Given the description of an element on the screen output the (x, y) to click on. 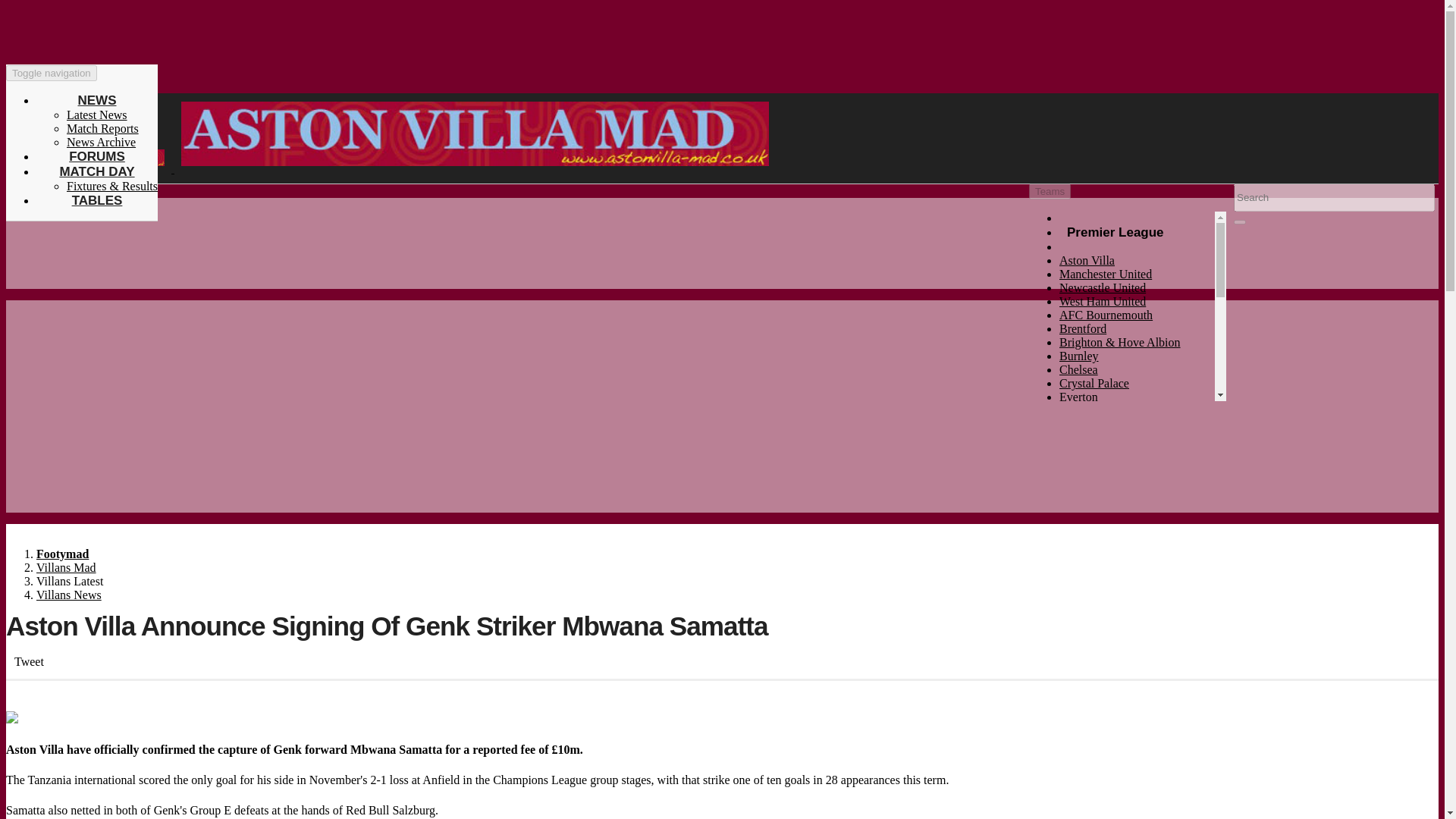
Tottenham Hotspur (1106, 478)
Latest News (97, 114)
Sheffield United (1099, 464)
Villans Mad (66, 567)
Arsenal (1078, 505)
News Archive (100, 141)
AFC Bournemouth (1106, 314)
Toggle navigation (51, 73)
Manchester City (1099, 437)
Wales (1074, 630)
FORUMS (96, 156)
MATCH DAY (96, 171)
Match Reports (111, 185)
News Archive (100, 141)
Footymad (62, 553)
